Given the description of an element on the screen output the (x, y) to click on. 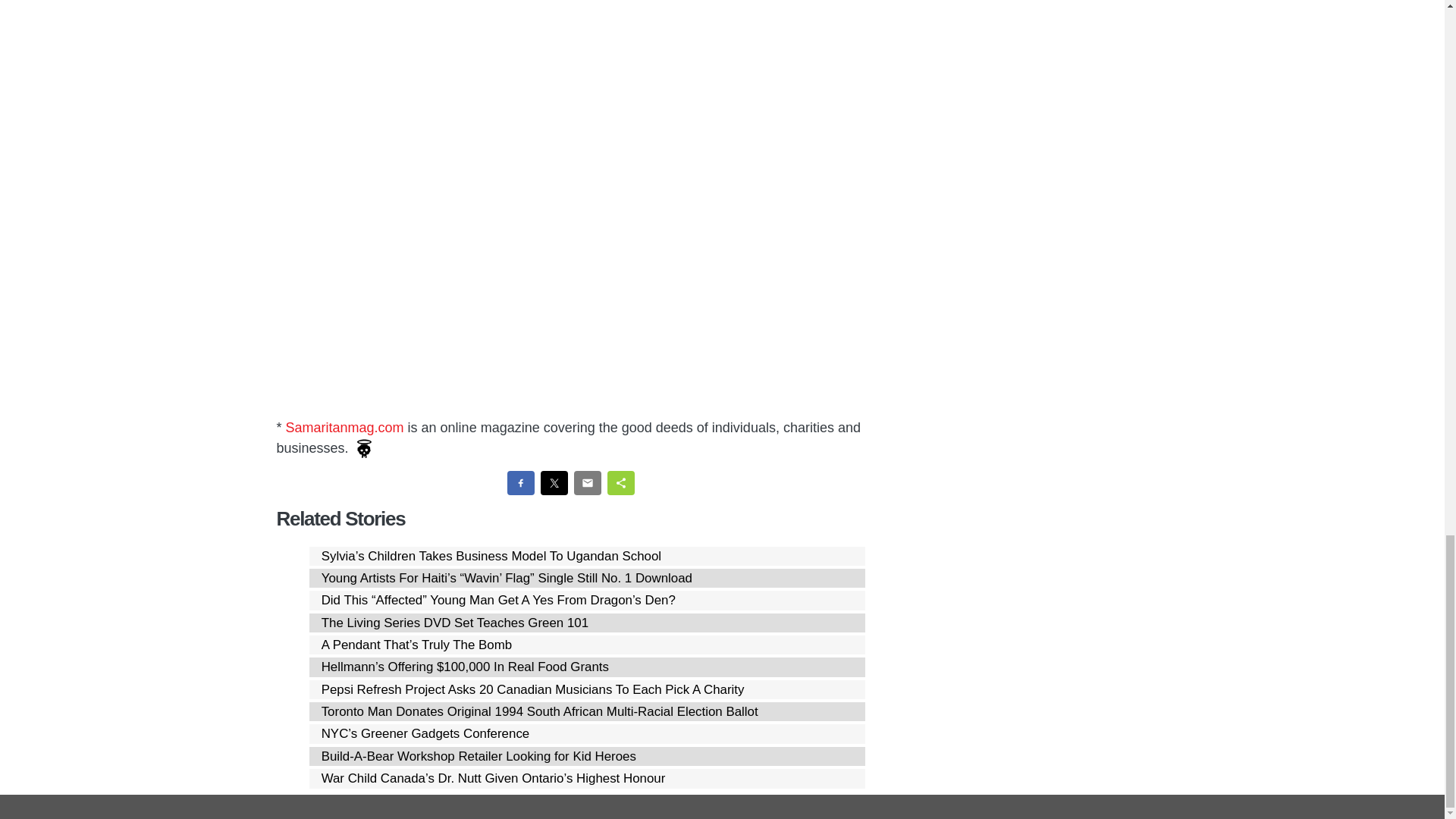
The Living Series DVD Set Teaches Green 101 (454, 622)
Samaritanmag.com (344, 427)
Build-A-Bear Workshop Retailer Looking for Kid Heroes (478, 756)
